Given the description of an element on the screen output the (x, y) to click on. 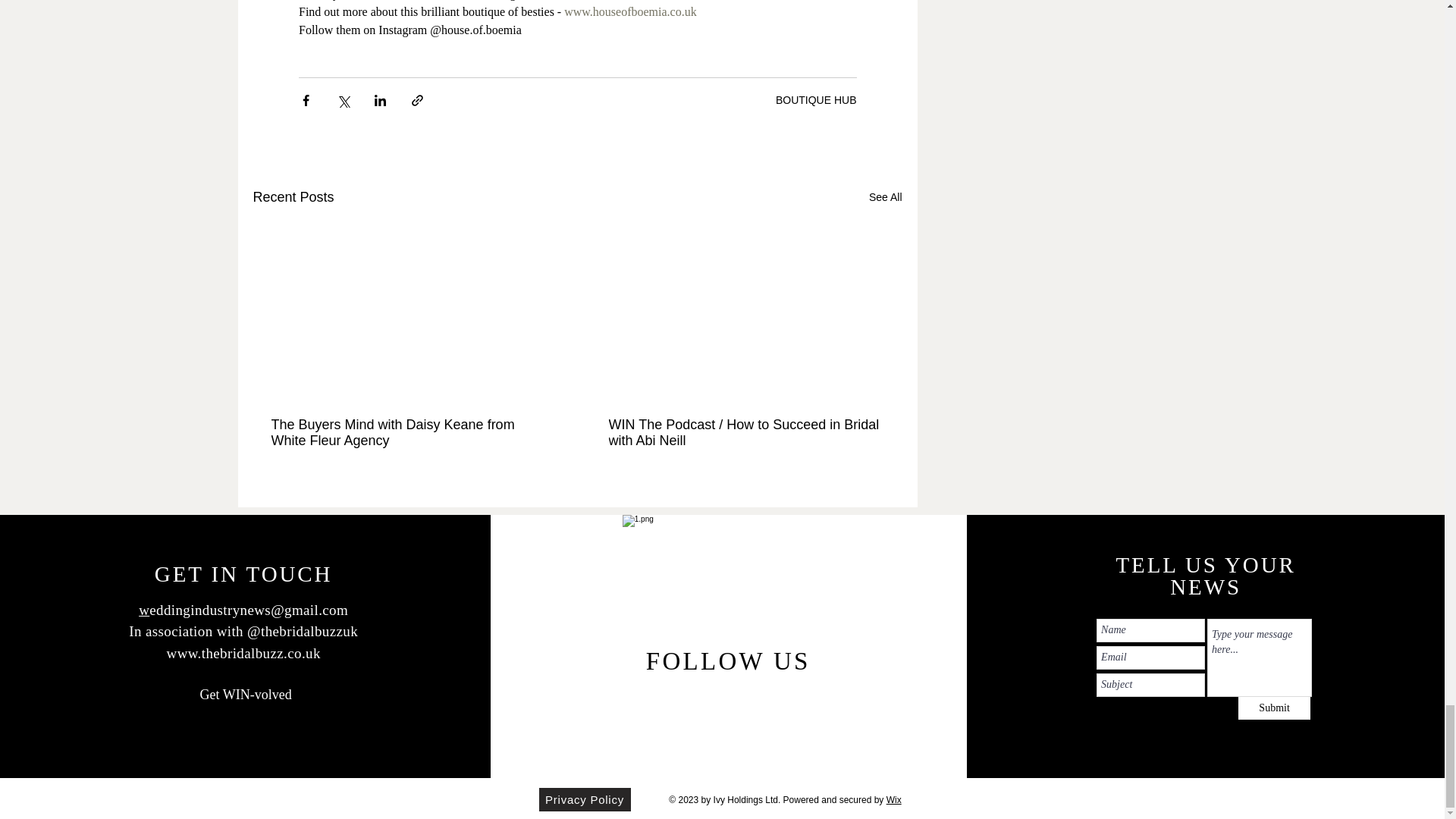
The Buyers Mind with Daisy Keane from White Fleur Agency (408, 432)
See All (885, 197)
BOUTIQUE HUB (816, 100)
2.png (727, 595)
www.houseofboemia.co.uk (629, 11)
